Given the description of an element on the screen output the (x, y) to click on. 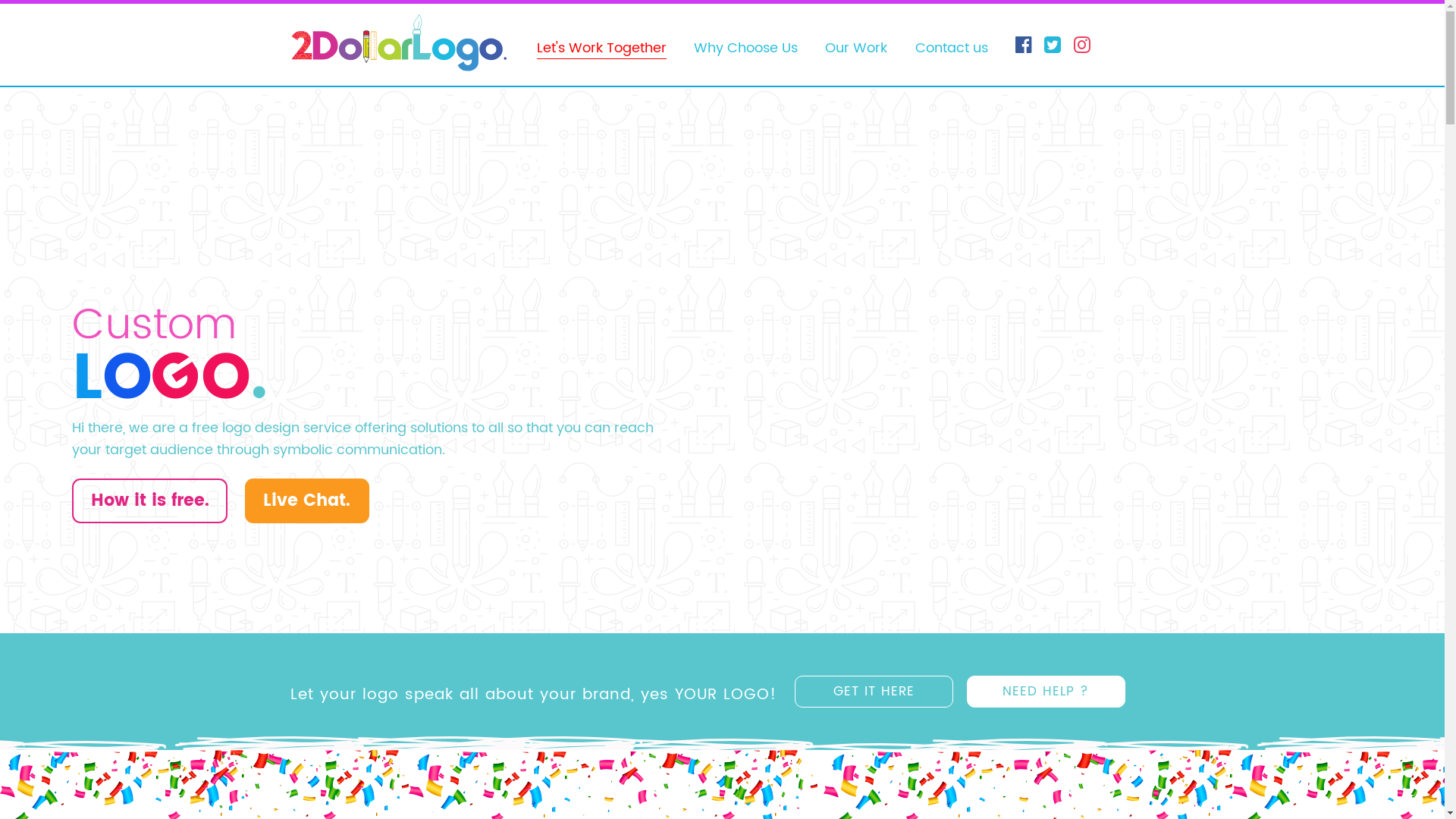
Let's Work Together Element type: text (601, 48)
How it is free. Element type: text (149, 500)
Contact us Element type: text (951, 48)
NEED HELP ? Element type: text (1045, 691)
Live Chat. Element type: text (306, 500)
GET IT HERE Element type: text (873, 691)
Our Work Element type: text (856, 48)
Why Choose Us Element type: text (745, 48)
